Given the description of an element on the screen output the (x, y) to click on. 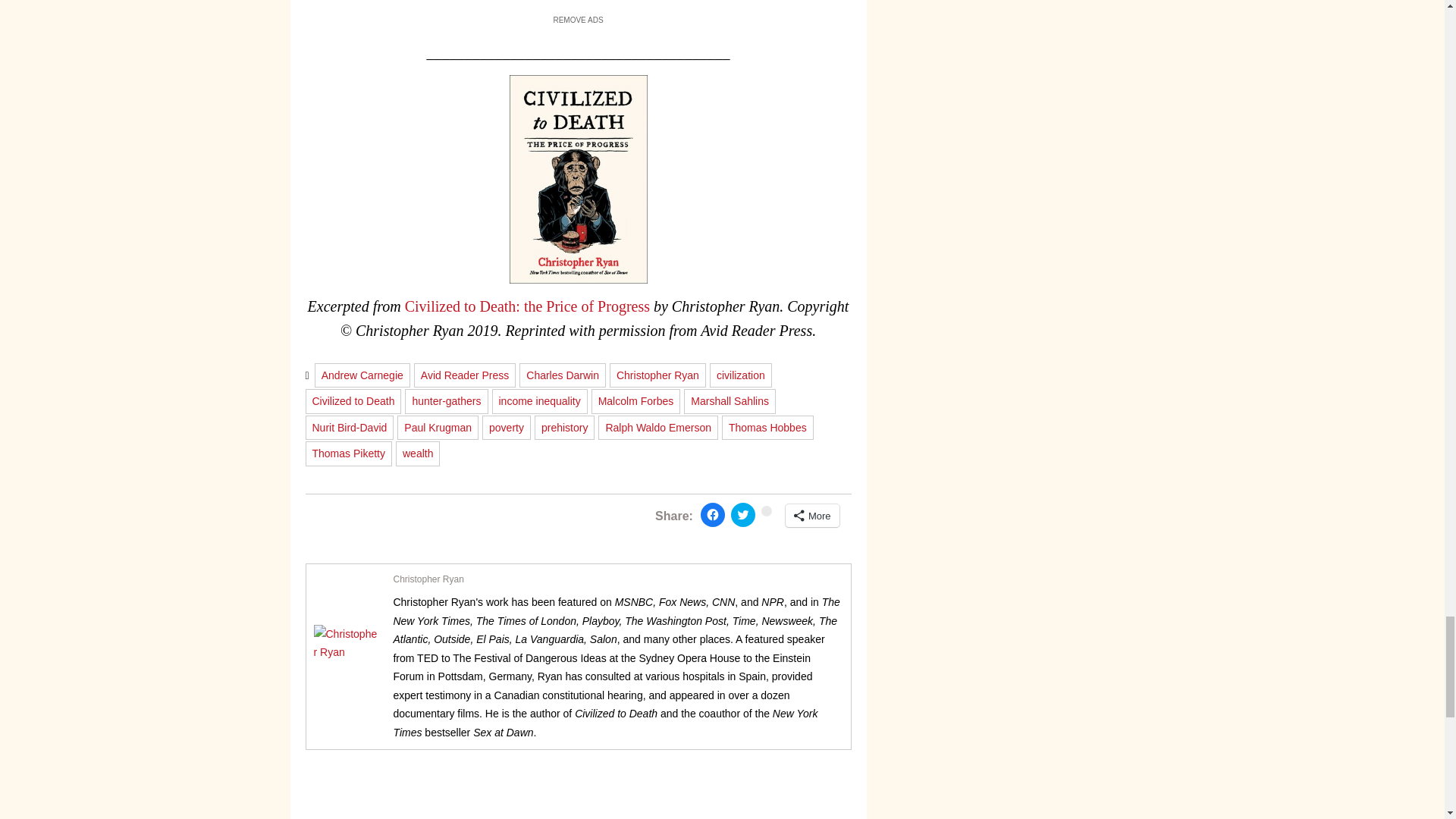
Share on Facebook (712, 514)
Click to share on Twitter (742, 514)
